Given the description of an element on the screen output the (x, y) to click on. 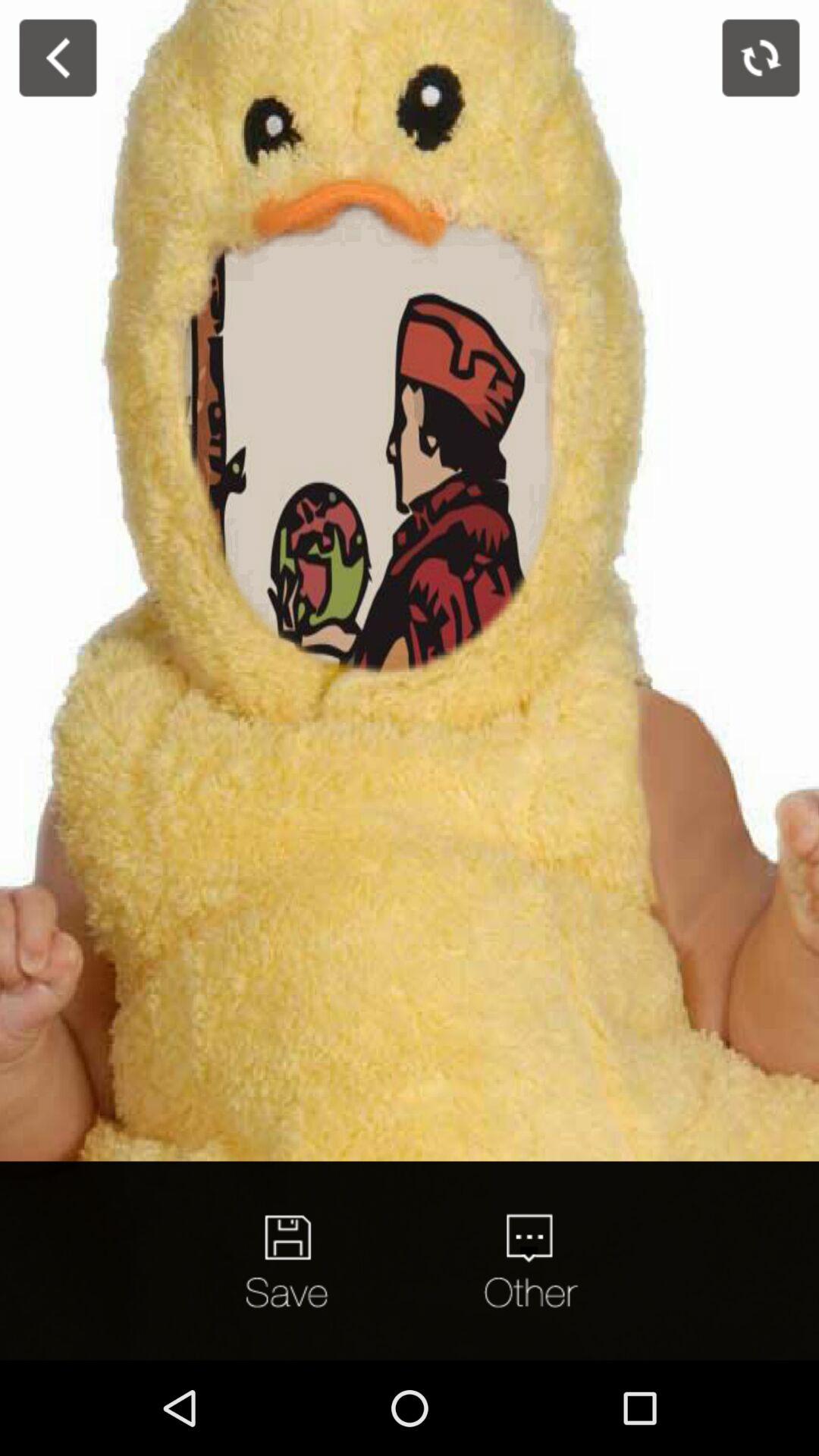
add quote (528, 1260)
